Given the description of an element on the screen output the (x, y) to click on. 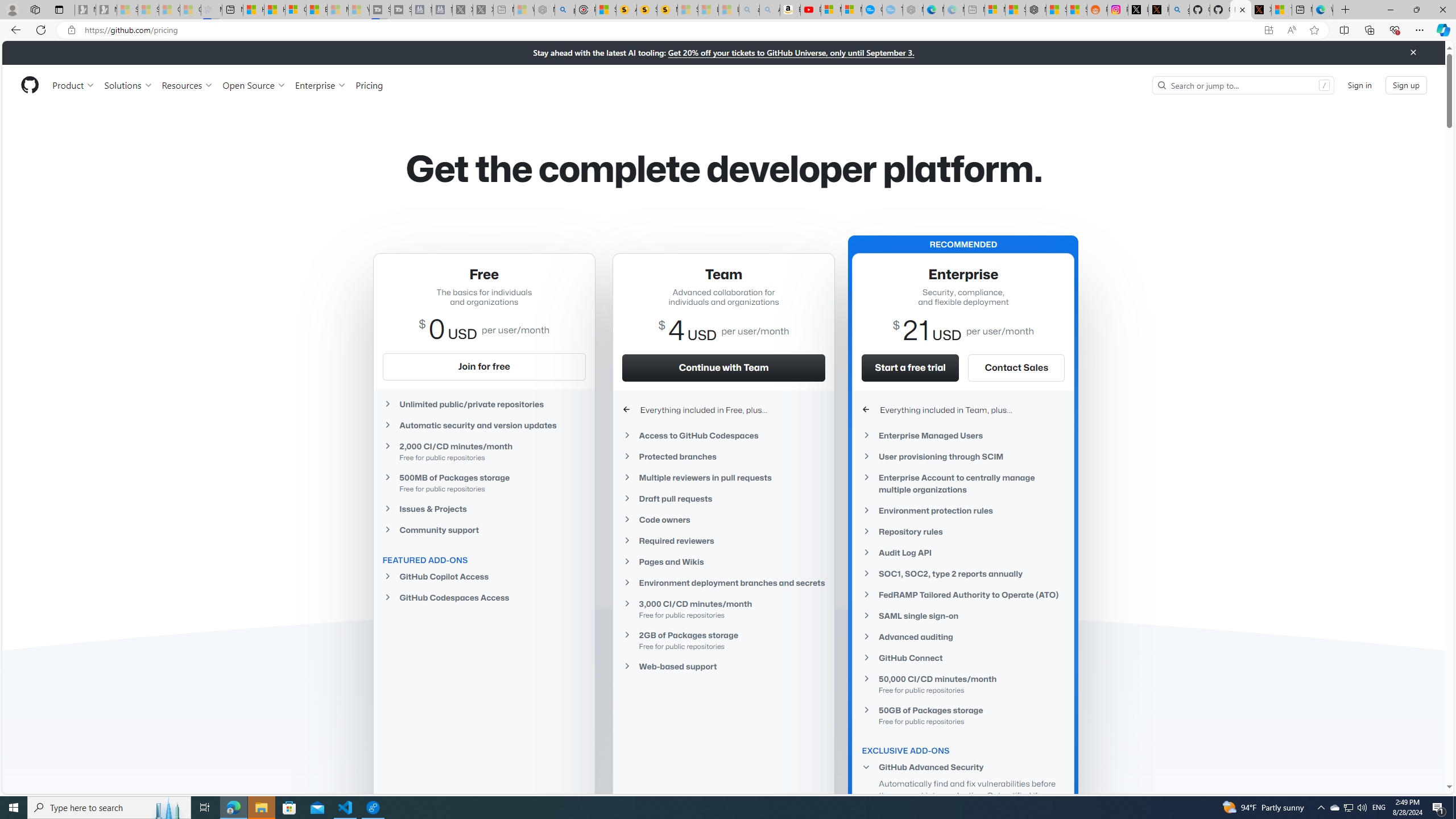
2,000 CI/CD minutes/monthFree for public repositories (483, 450)
Required reviewers (723, 540)
poe - Search (564, 9)
amazon - Search - Sleeping (748, 9)
Pages and Wikis (723, 561)
Automatic security and version updates (483, 425)
500MB of Packages storage Free for public repositories (483, 482)
Open Source (254, 84)
